Given the description of an element on the screen output the (x, y) to click on. 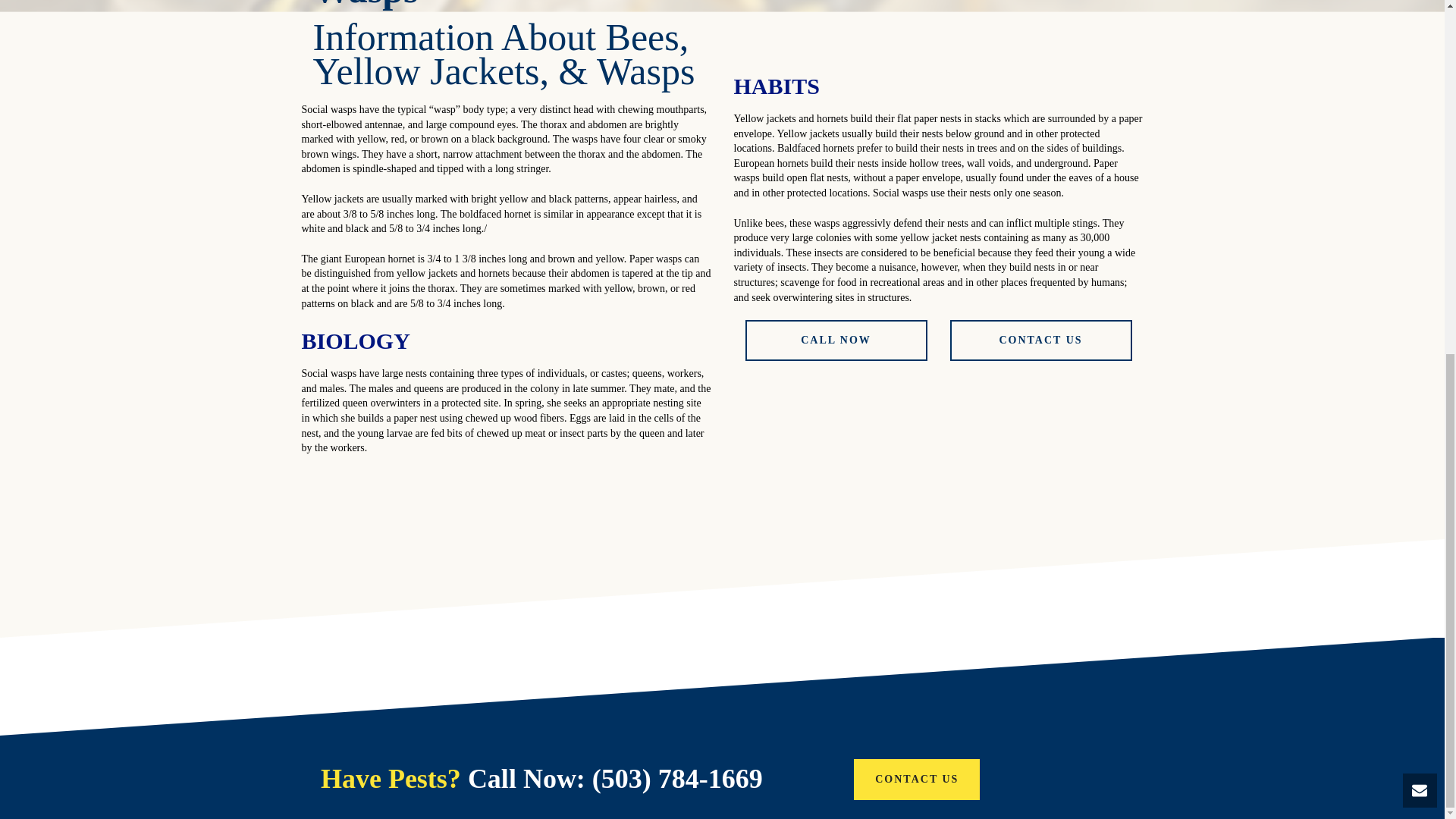
CALL NOW (835, 340)
CONTACT US (1040, 340)
CALL NOW (835, 340)
CONTACT US (916, 779)
